Given the description of an element on the screen output the (x, y) to click on. 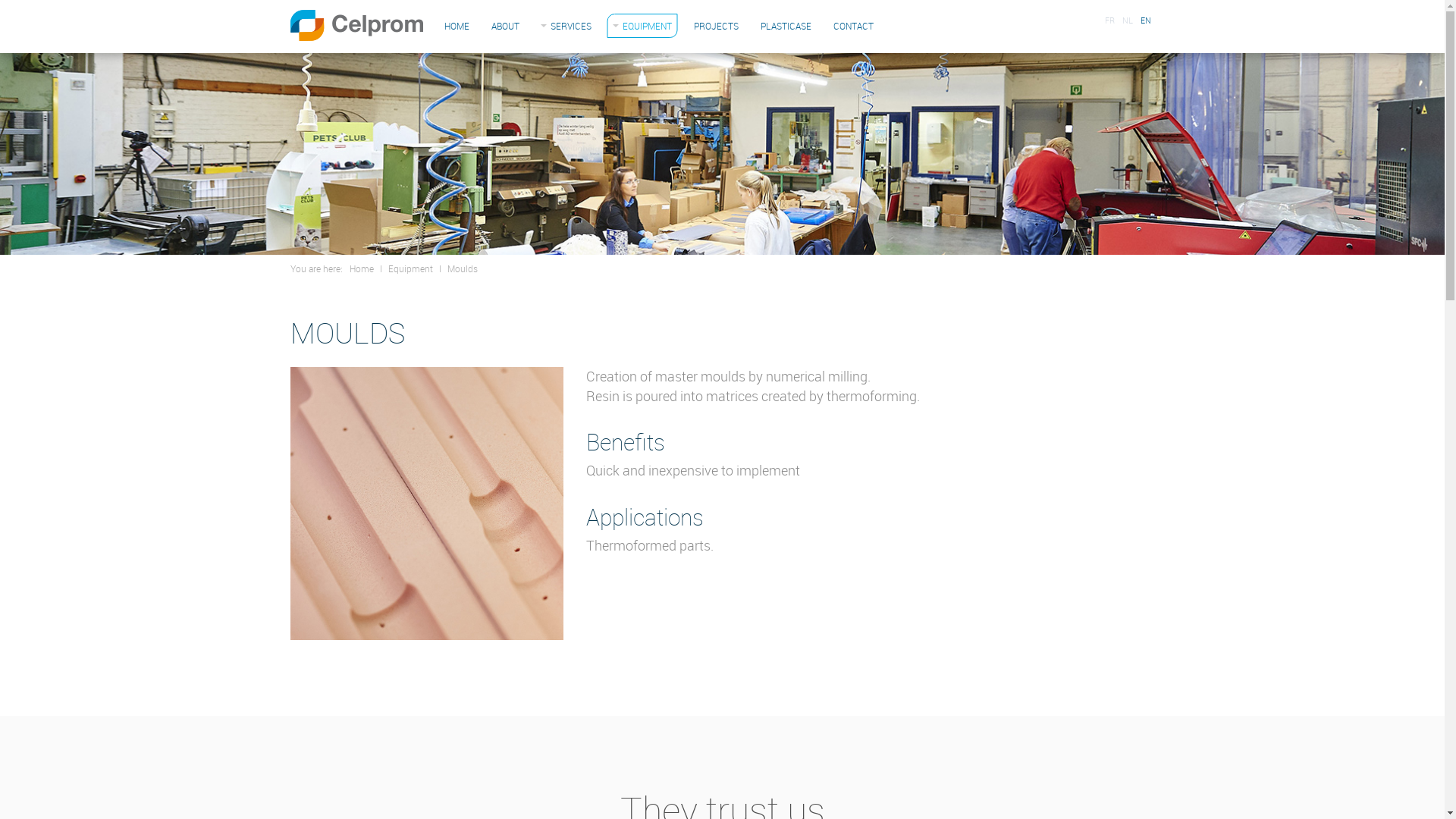
EQUIPMENT Element type: text (641, 25)
EN Element type: text (1144, 19)
SERVICES Element type: text (566, 25)
Equipment Element type: text (410, 268)
FR Element type: text (1109, 19)
Home Element type: text (360, 268)
Celprom Element type: text (355, 24)
ABOUT Element type: text (505, 25)
PROJECTS Element type: text (715, 25)
CONTACT Element type: text (852, 25)
PLASTICASE Element type: text (784, 25)
NL Element type: text (1126, 19)
HOME Element type: text (456, 25)
